Given the description of an element on the screen output the (x, y) to click on. 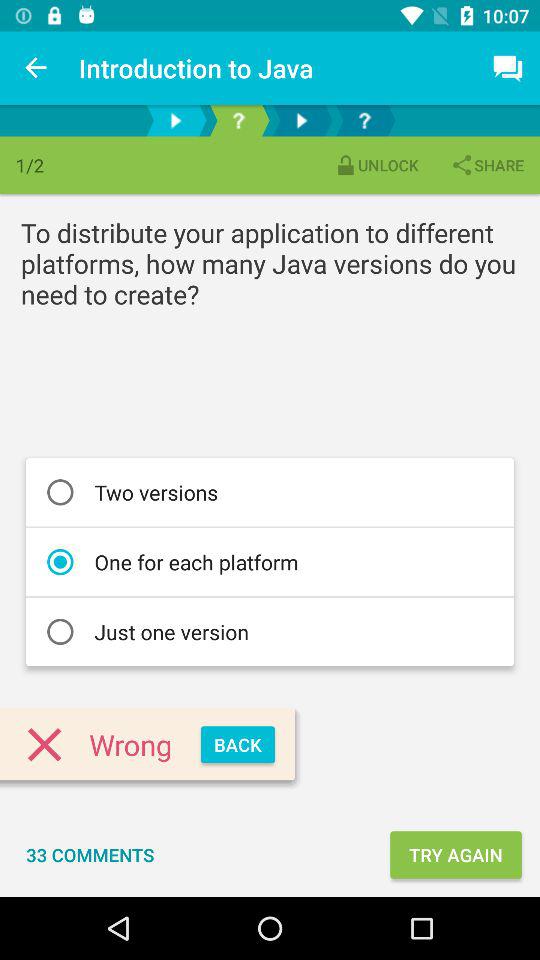
turn on the icon next to wrong (237, 744)
